Given the description of an element on the screen output the (x, y) to click on. 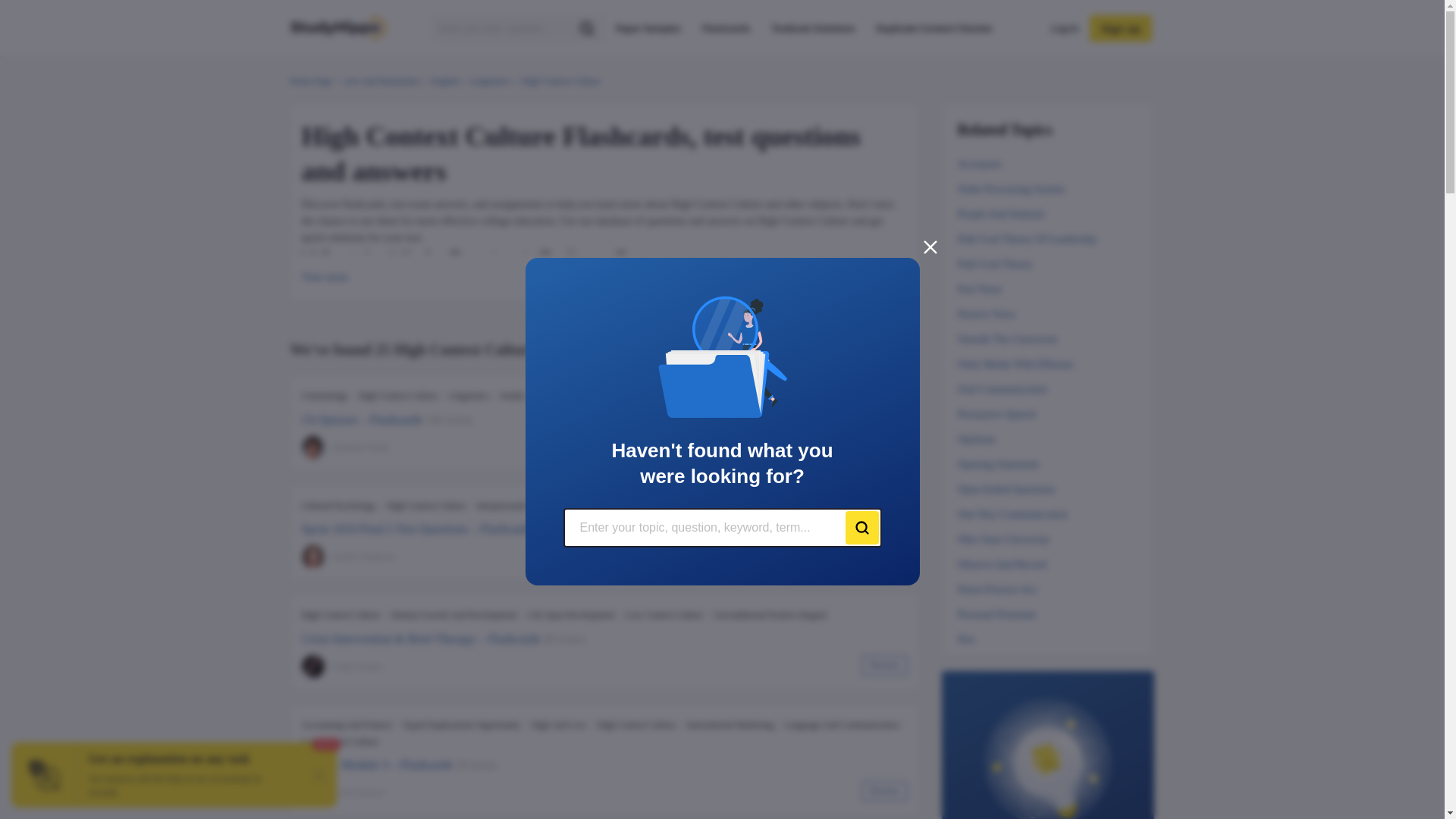
Flashcards (725, 28)
Sign up (1120, 28)
Log In (1064, 28)
Paper Samples (648, 28)
Textbook Solutions (812, 28)
Duplicate Content Checker (934, 28)
Arts And Humanities (381, 80)
Home Page (310, 80)
English (445, 80)
View more (325, 277)
Linguistics (490, 80)
